Given the description of an element on the screen output the (x, y) to click on. 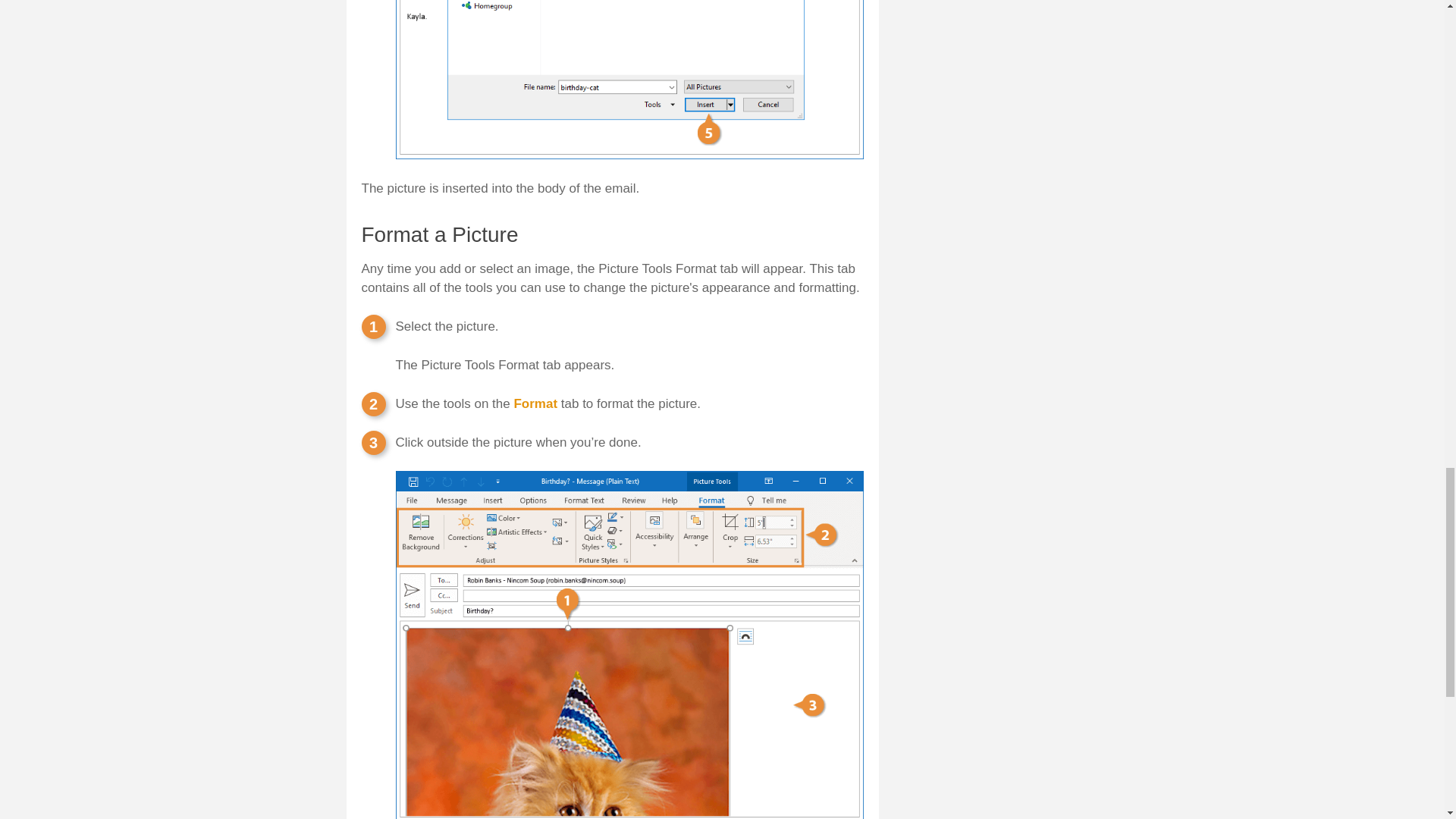
Format a Picture (439, 238)
